Given the description of an element on the screen output the (x, y) to click on. 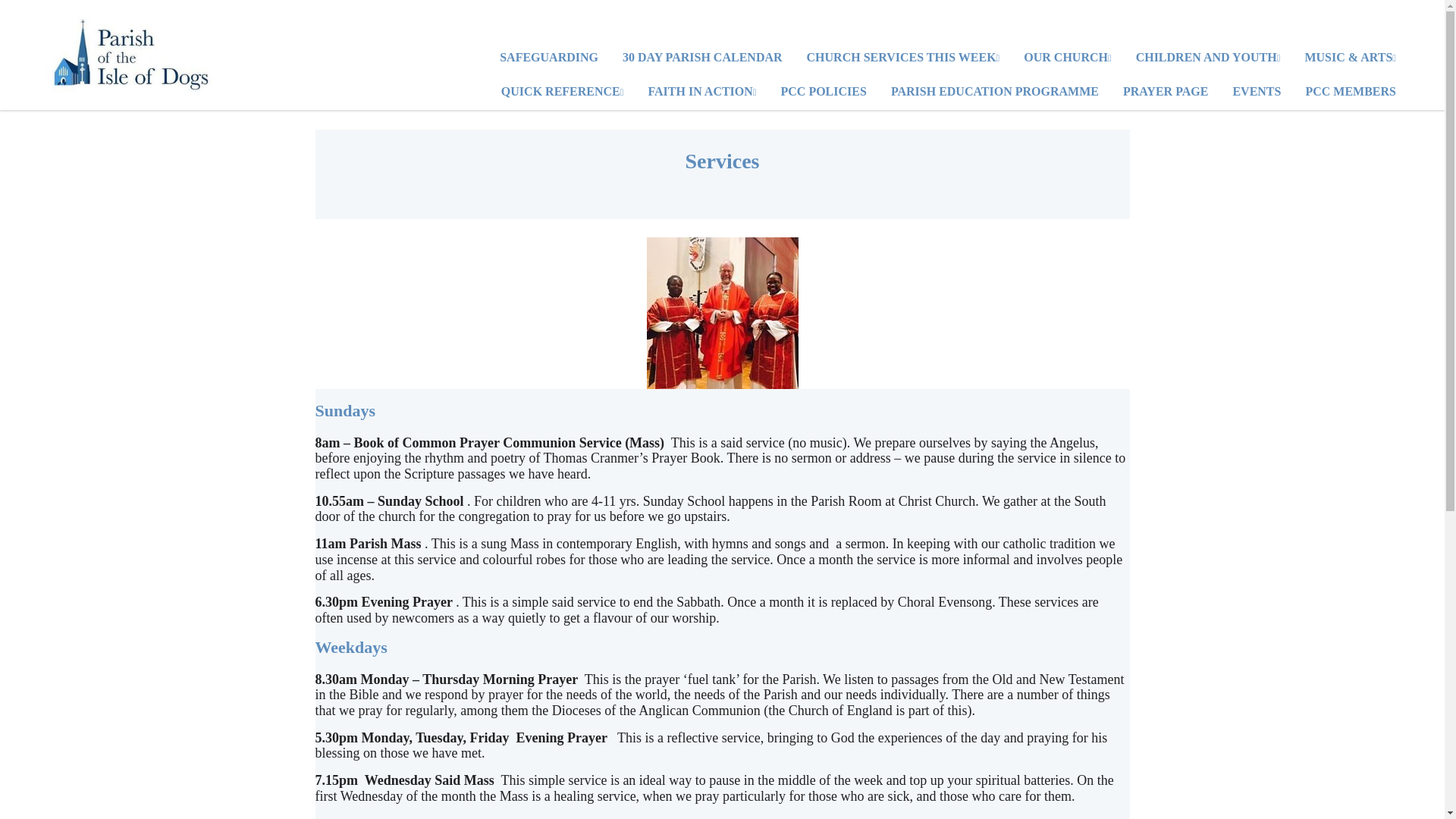
FAITH IN ACTION (701, 92)
30 DAY PARISH CALENDAR (702, 58)
CHURCH SERVICES THIS WEEK (902, 58)
OUR CHURCH (1066, 58)
SAFEGUARDING (548, 58)
CHILDREN AND YOUTH (1208, 58)
QUICK REFERENCE (562, 92)
